Given the description of an element on the screen output the (x, y) to click on. 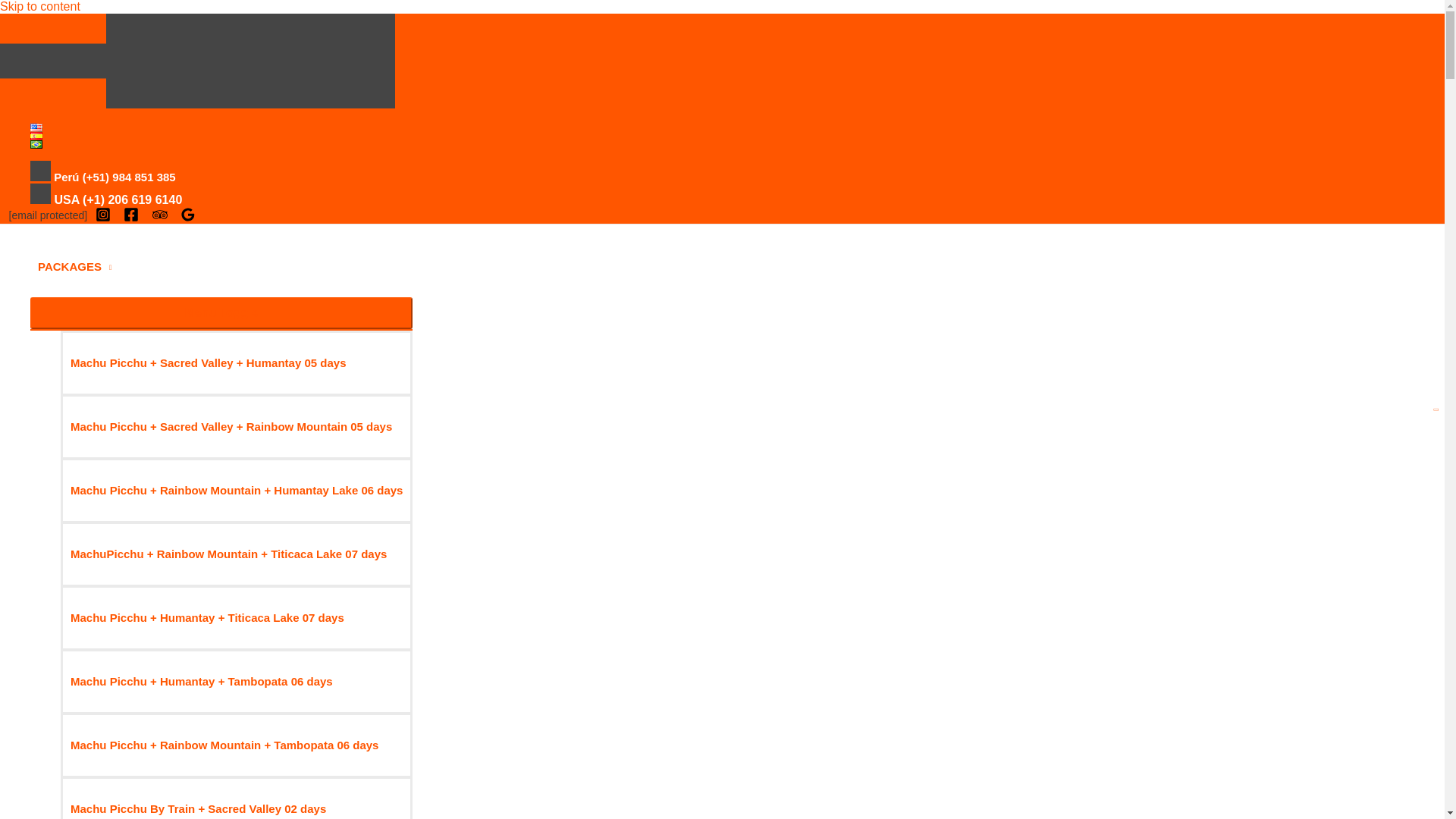
Google Reviews (189, 218)
Trip Advisor (162, 218)
PACKAGES (221, 266)
Skip to content (40, 6)
Google Reviews (187, 214)
Menu Toggle (221, 313)
Skip to content (40, 6)
Trip Advisor (159, 214)
206 619 6140 (144, 199)
